Given the description of an element on the screen output the (x, y) to click on. 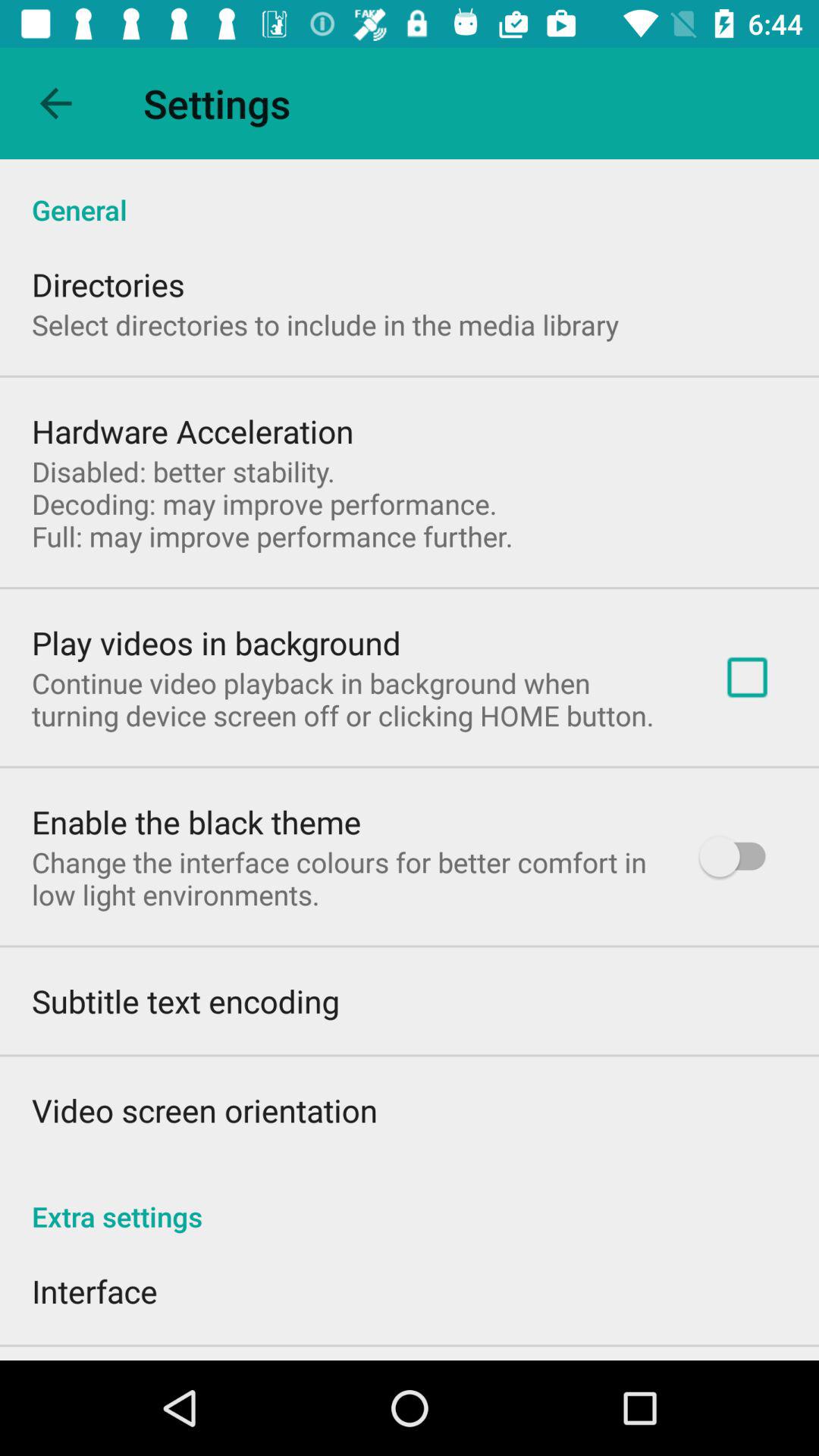
turn off item above subtitle text encoding item (345, 878)
